Given the description of an element on the screen output the (x, y) to click on. 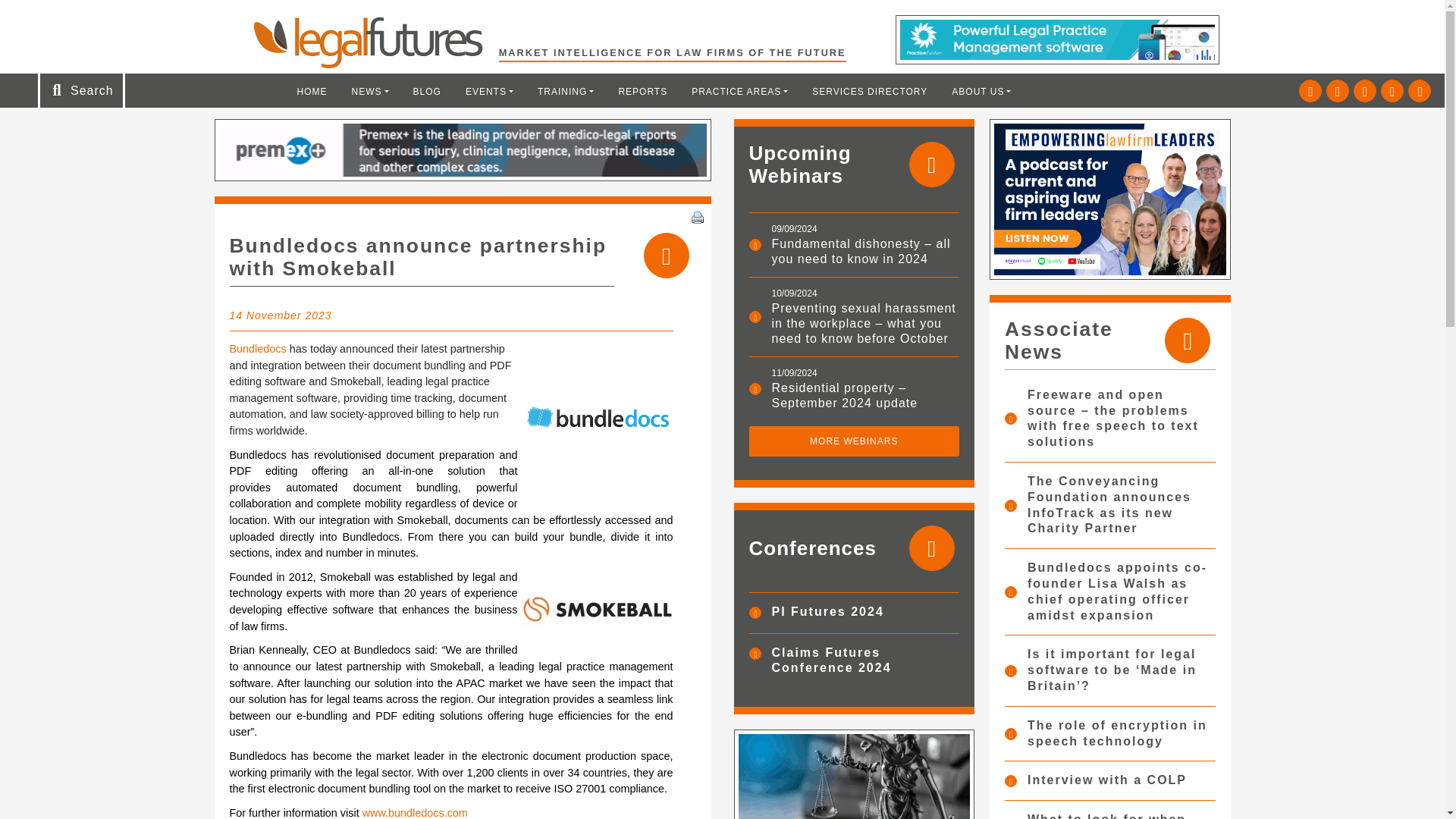
PRACTICE AREAS (739, 91)
NEWS (370, 91)
HOME (312, 91)
See Legal Futures on Twitter (1310, 90)
Blog (426, 91)
REPORTS (642, 91)
TRAINING (565, 91)
See Legal Futures on Facebook-f (1364, 90)
See Legal Futures on Linkedin-in (1337, 90)
SERVICES DIRECTORY (869, 91)
